Given the description of an element on the screen output the (x, y) to click on. 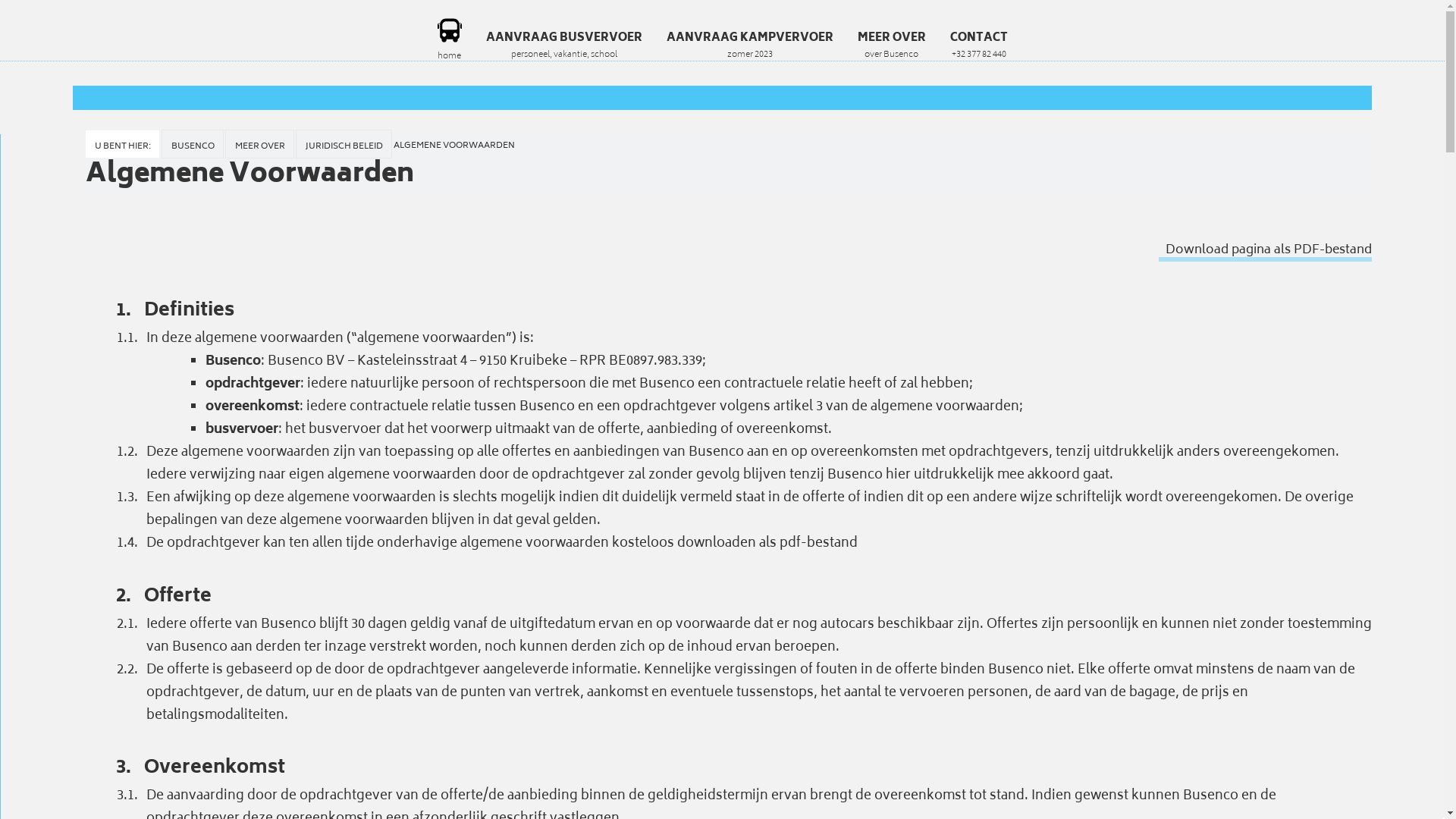
AANVRAAG KAMPVERVOER Element type: text (748, 45)
CONTACT Element type: text (978, 45)
home Element type: hover (448, 38)
MEER OVER Element type: text (890, 45)
BUSENCO Element type: text (192, 143)
JURIDISCH BELEID Element type: text (343, 143)
AANVRAAG BUSVERVOER Element type: text (563, 45)
MEER OVER Element type: text (259, 143)
Download pagina als PDF-bestand Element type: text (1264, 249)
